Given the description of an element on the screen output the (x, y) to click on. 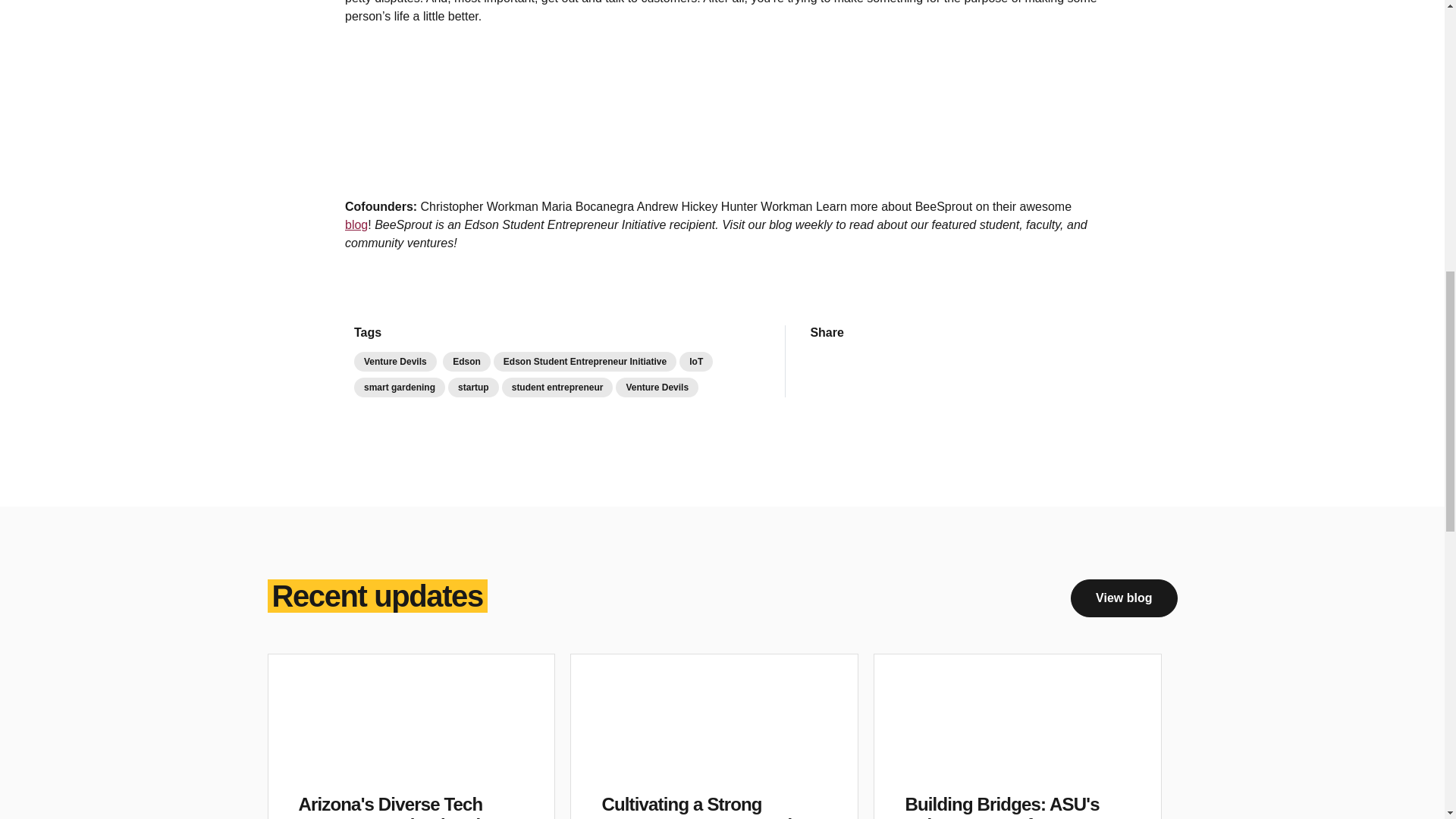
blog (356, 224)
Venture Devils (656, 387)
Edson (466, 361)
IoT (696, 361)
smart gardening (399, 387)
View blog (1123, 598)
student entrepreneur (557, 387)
Venture Devils (394, 361)
Edson Student Entrepreneur Initiative (585, 361)
startup (473, 387)
